Given the description of an element on the screen output the (x, y) to click on. 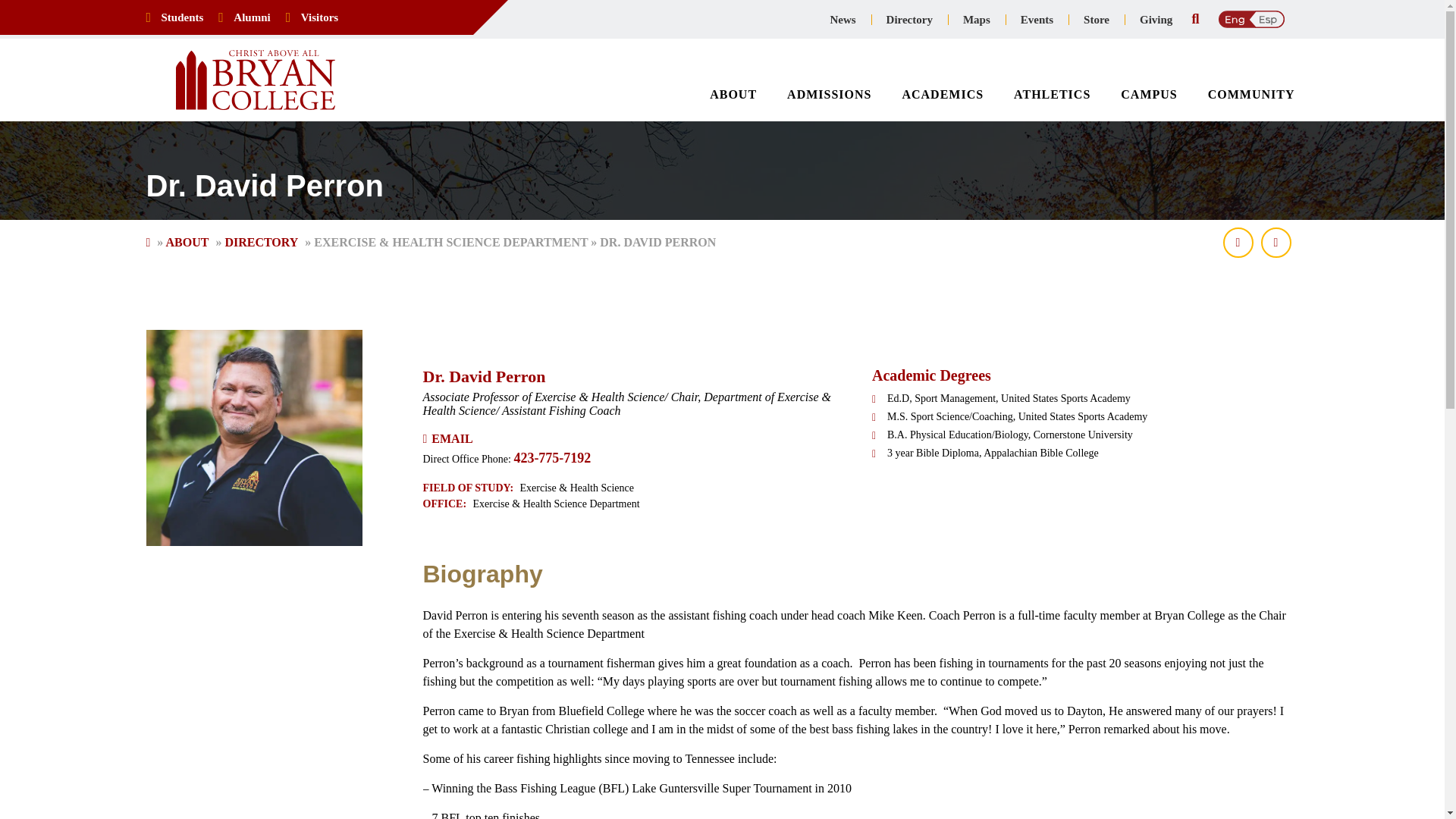
Events (1037, 19)
Alumni (251, 17)
Visitors (319, 17)
Students (181, 17)
Directory (908, 19)
Store (1096, 19)
ABOUT (732, 94)
ADMISSIONS (828, 94)
Save Page as PDF (1237, 242)
Maps (976, 19)
News (841, 19)
423-775-7192 (552, 458)
Email (450, 438)
Giving (1156, 19)
